Given the description of an element on the screen output the (x, y) to click on. 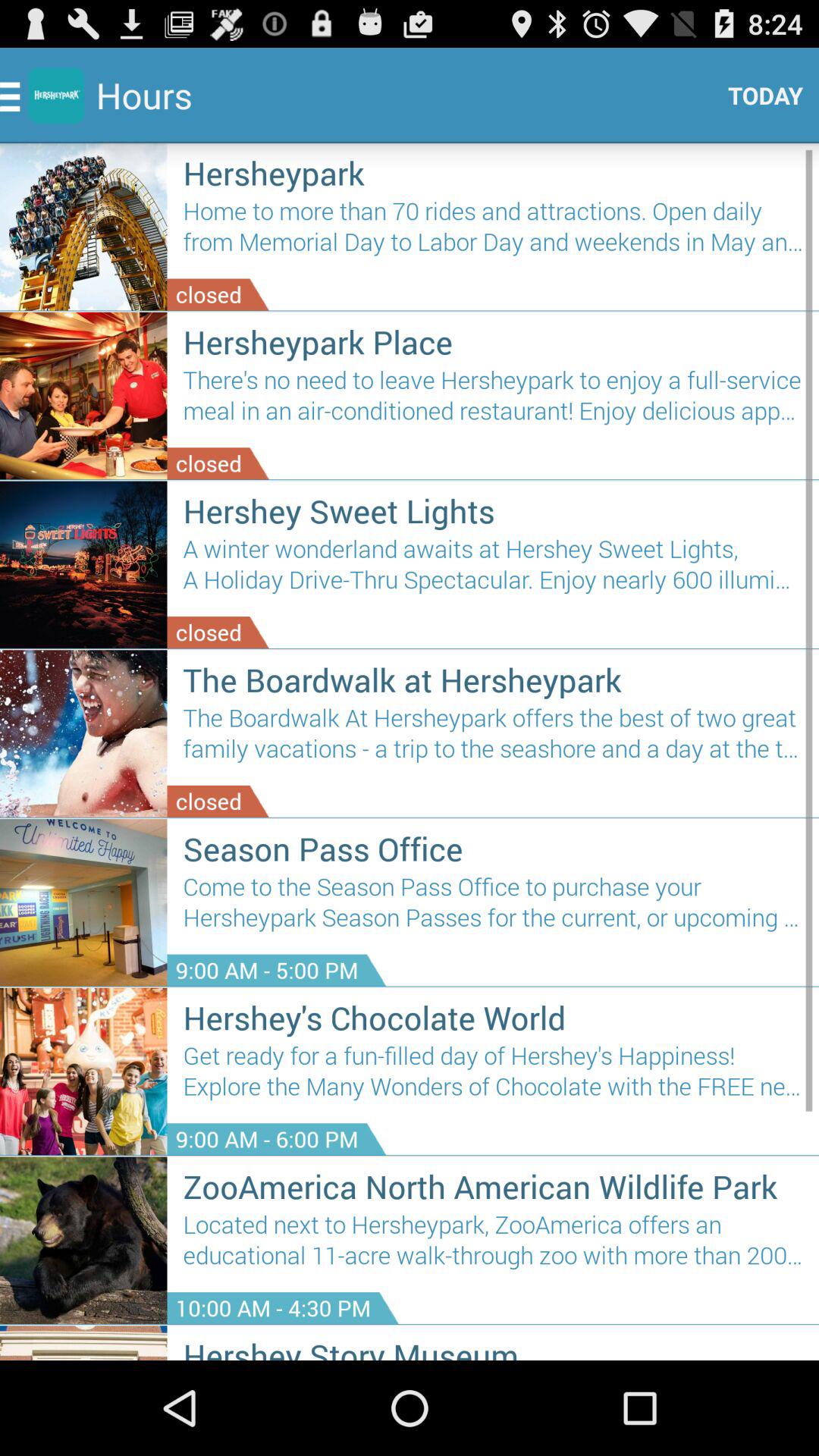
click the item below hershey s chocolate item (493, 1077)
